Given the description of an element on the screen output the (x, y) to click on. 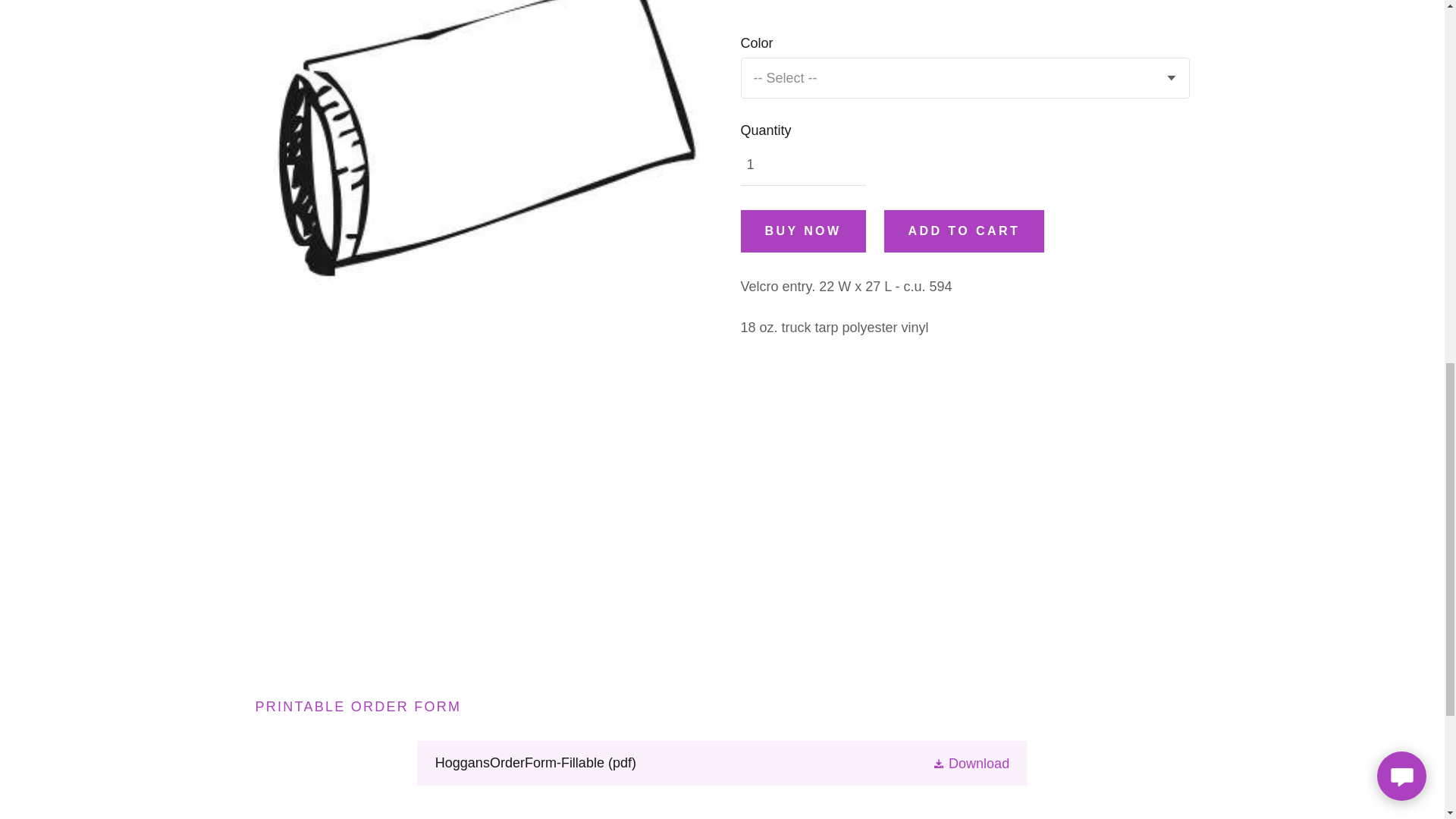
1 (801, 164)
